Given the description of an element on the screen output the (x, y) to click on. 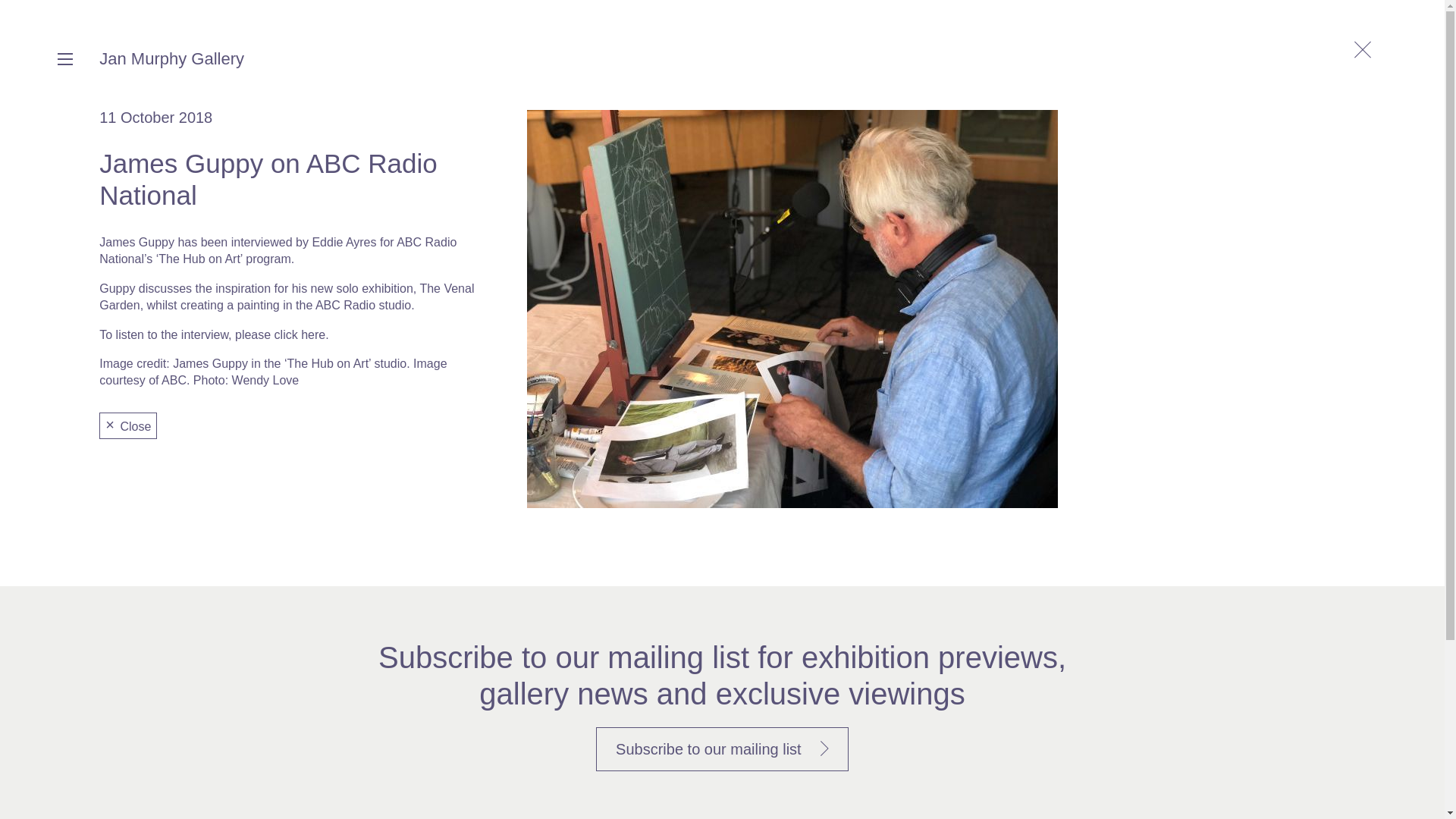
To listen to the interview, please click here. (214, 334)
Jan Murphy Gallery (171, 57)
Jan Murphy Gallery (171, 57)
